Given the description of an element on the screen output the (x, y) to click on. 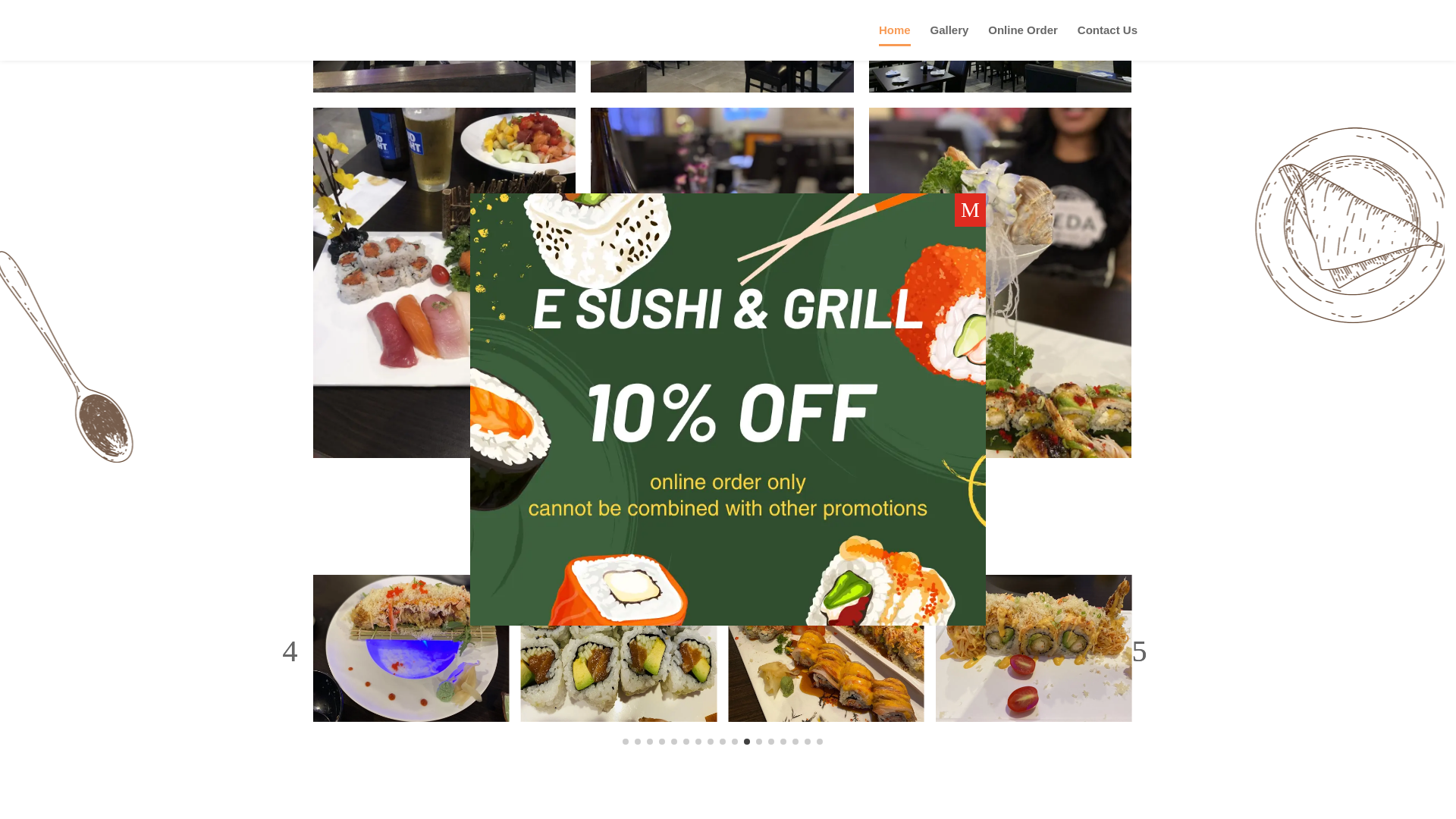
105 (722, 46)
104 (444, 46)
106 (1000, 46)
